Given the description of an element on the screen output the (x, y) to click on. 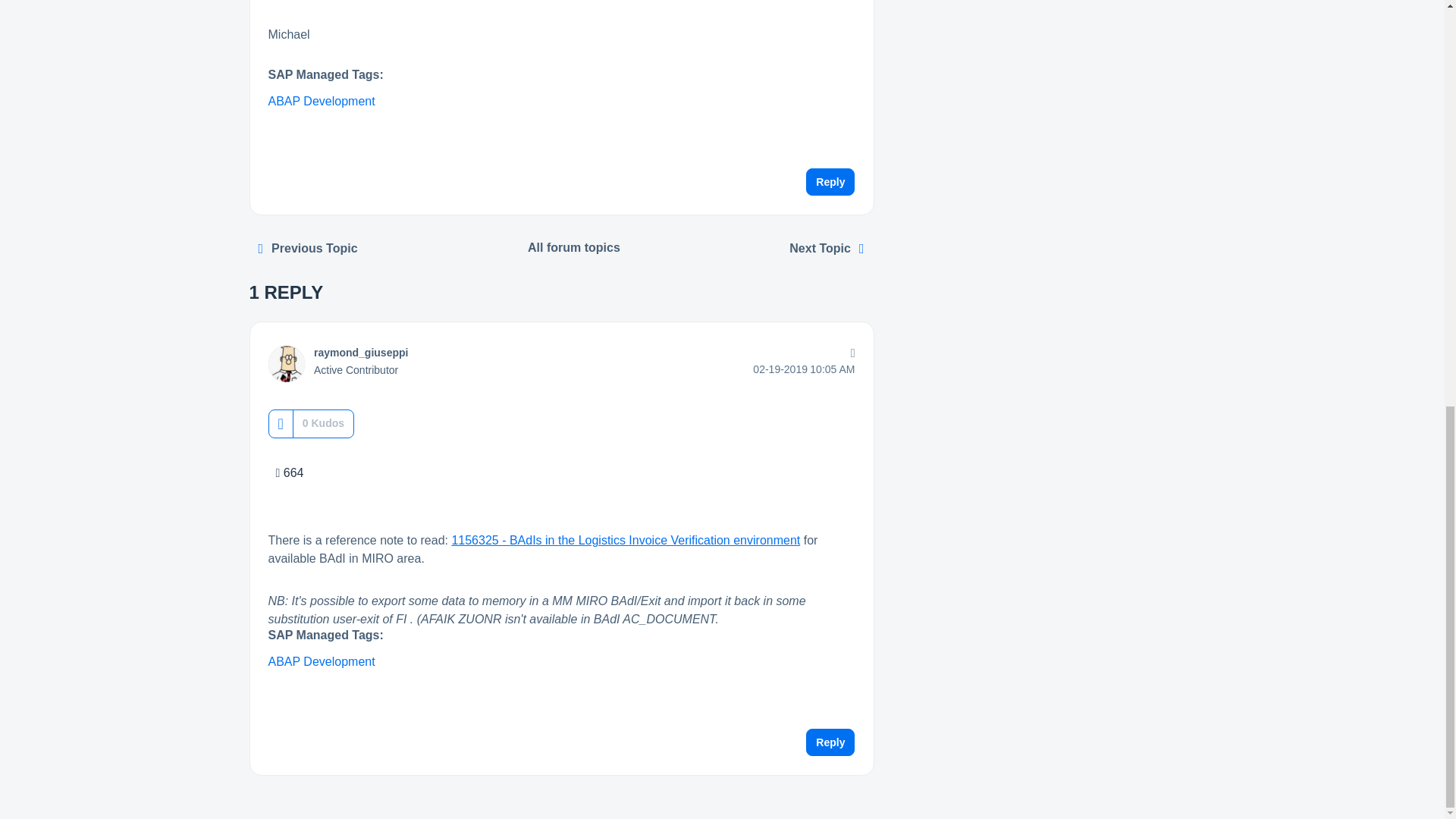
Reply (830, 181)
ABAP Development (321, 101)
Previous Topic (308, 248)
Application Development Discussions (574, 247)
Call screen starting at - mystery (308, 248)
All forum topics (574, 247)
Next Topic (825, 248)
